Given the description of an element on the screen output the (x, y) to click on. 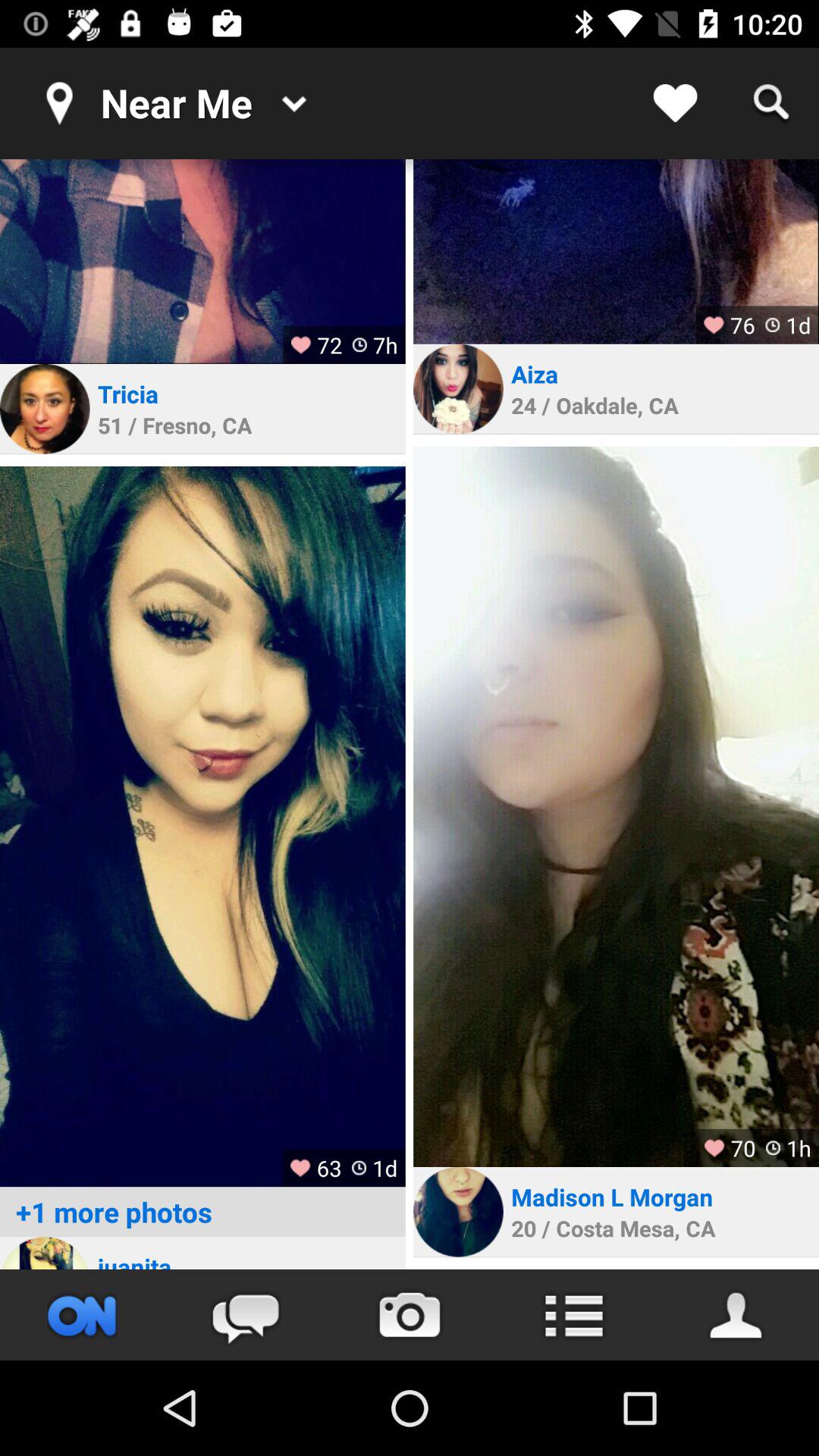
advertisement (44, 1253)
